Given the description of an element on the screen output the (x, y) to click on. 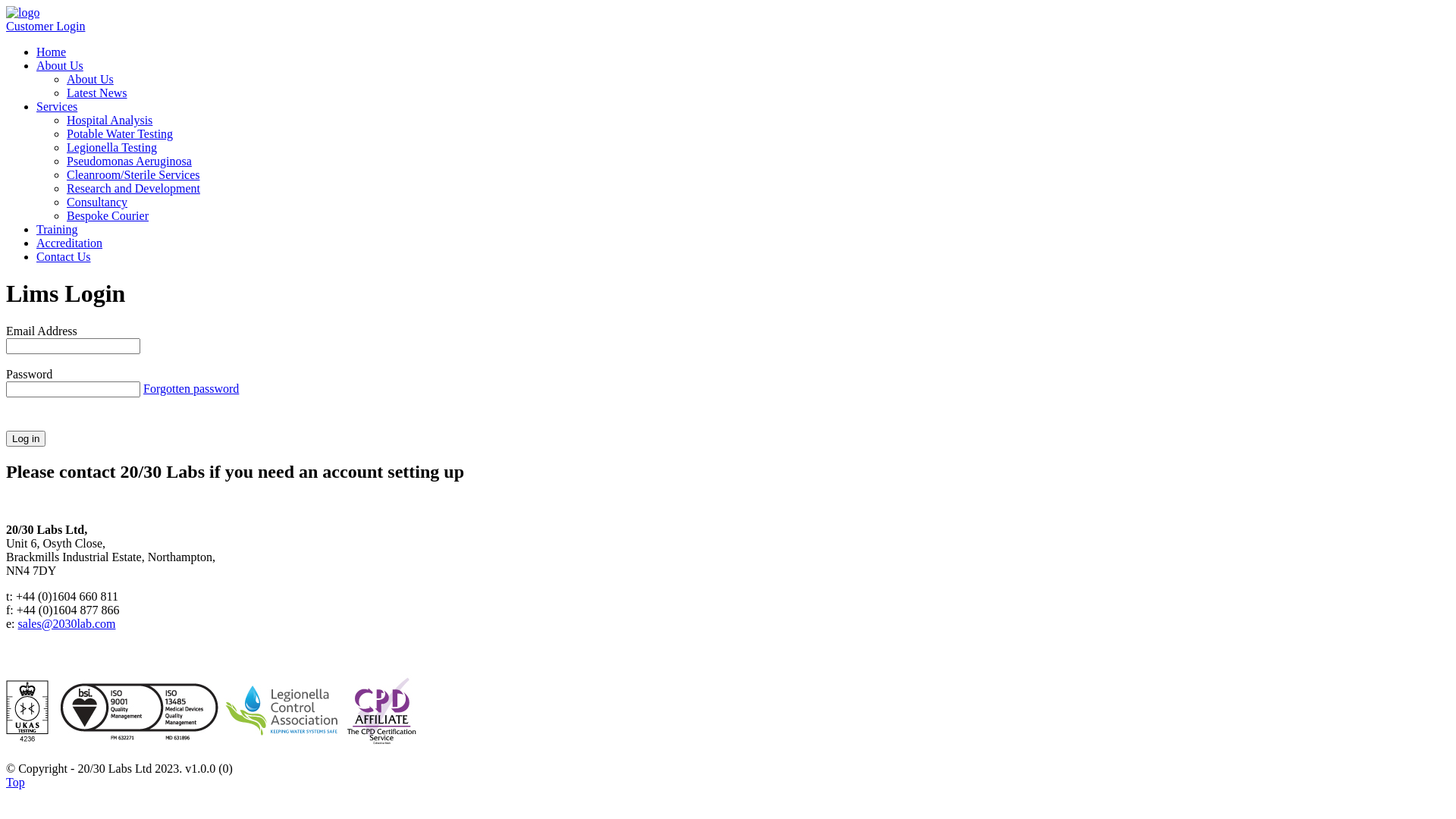
Bespoke Courier Element type: text (107, 215)
About Us Element type: text (59, 65)
Log in Element type: text (25, 438)
Pseudomonas Aeruginosa Element type: text (128, 160)
Cleanroom/Sterile Services Element type: text (133, 174)
Forgotten password Element type: text (190, 388)
Twitter Follow Button Element type: hover (49, 638)
Contact Us Element type: text (63, 256)
Top Element type: text (15, 781)
Research and Development Element type: text (133, 188)
Home Element type: text (50, 51)
Consultancy Element type: text (96, 201)
Legionella Testing Element type: text (111, 147)
Potable Water Testing Element type: text (119, 133)
Training Element type: text (57, 228)
Latest News Element type: text (96, 92)
sales@2030lab.com Element type: text (67, 623)
Hospital Analysis Element type: text (109, 119)
Accreditation Element type: text (69, 242)
Customer Login Element type: text (45, 25)
Services Element type: text (56, 106)
About Us Element type: text (89, 78)
